Given the description of an element on the screen output the (x, y) to click on. 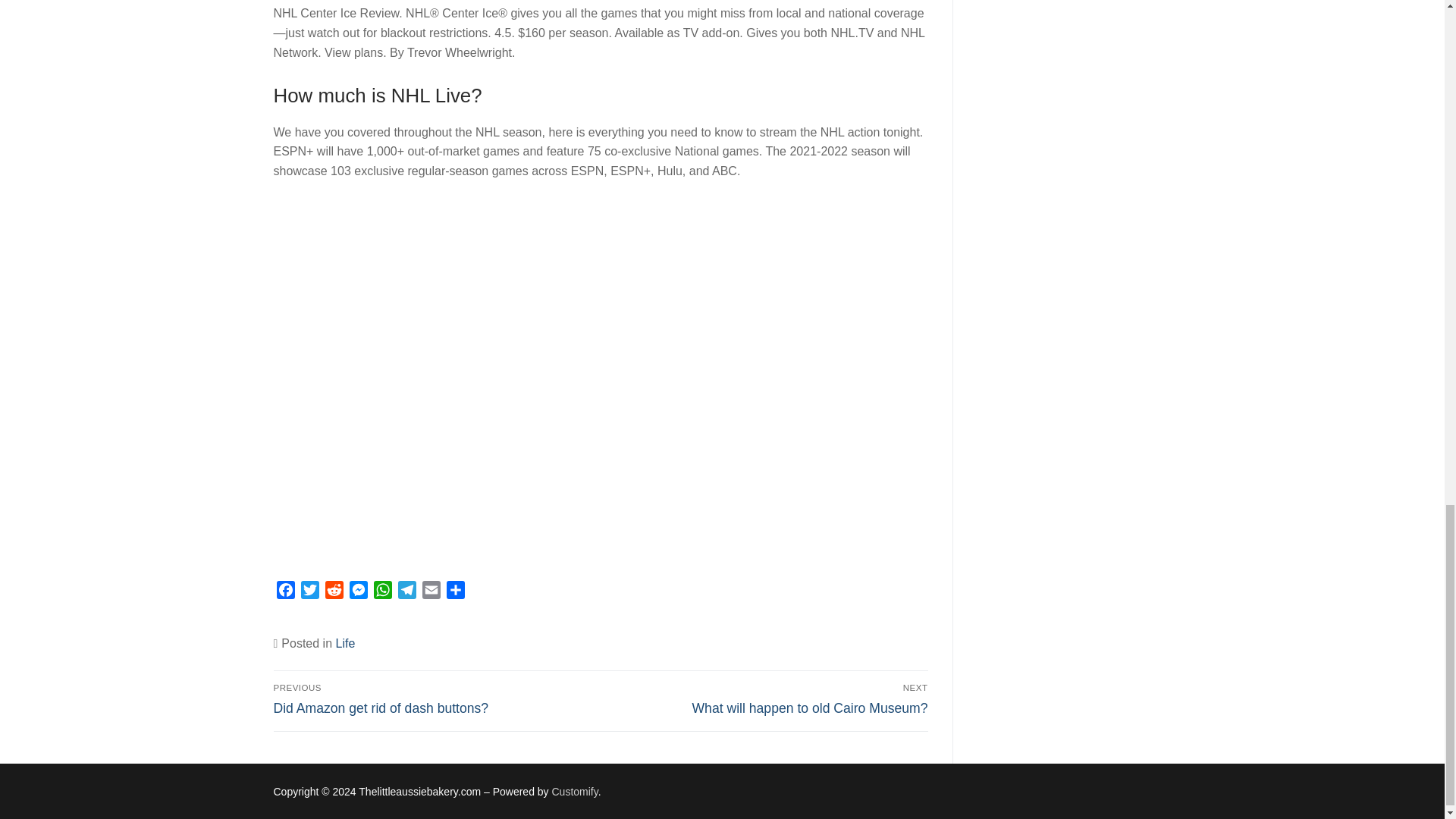
WhatsApp (381, 592)
Messenger (357, 592)
Facebook (285, 592)
WhatsApp (381, 592)
Email (430, 592)
Life (344, 643)
Email (430, 592)
Telegram (406, 592)
